Given the description of an element on the screen output the (x, y) to click on. 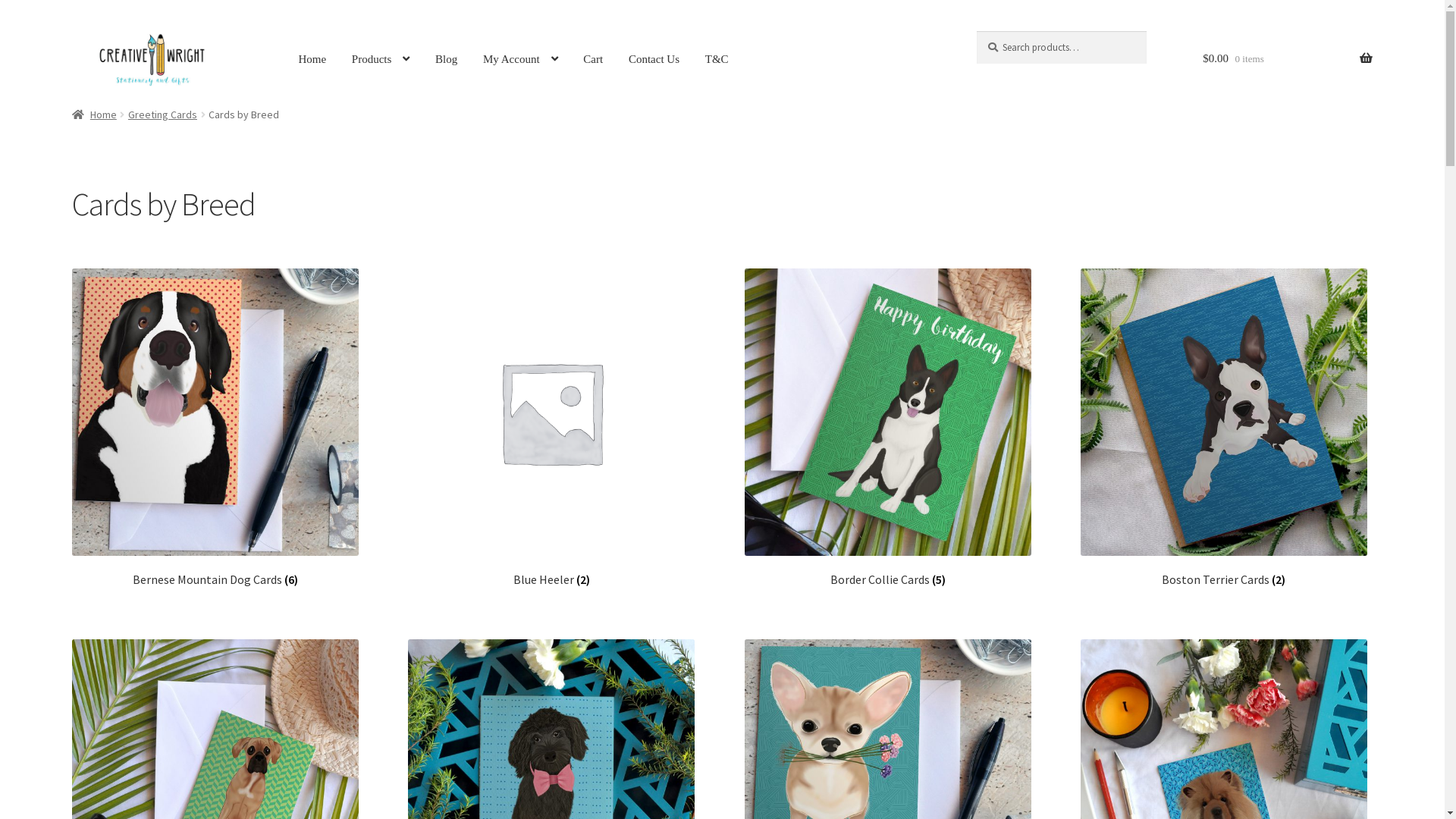
Search Element type: text (975, 30)
Home Element type: text (311, 59)
Contact Us Element type: text (653, 59)
Home Element type: text (94, 114)
My Account Element type: text (520, 59)
Products Element type: text (380, 59)
Border Collie Cards (5) Element type: text (887, 427)
Blog Element type: text (445, 59)
Boston Terrier Cards (2) Element type: text (1223, 427)
Cart Element type: text (592, 59)
Blue Heeler (2) Element type: text (550, 427)
T&C Element type: text (716, 59)
$0.00 0 items Element type: text (1287, 59)
Bernese Mountain Dog Cards (6) Element type: text (215, 427)
Greeting Cards Element type: text (162, 114)
